Given the description of an element on the screen output the (x, y) to click on. 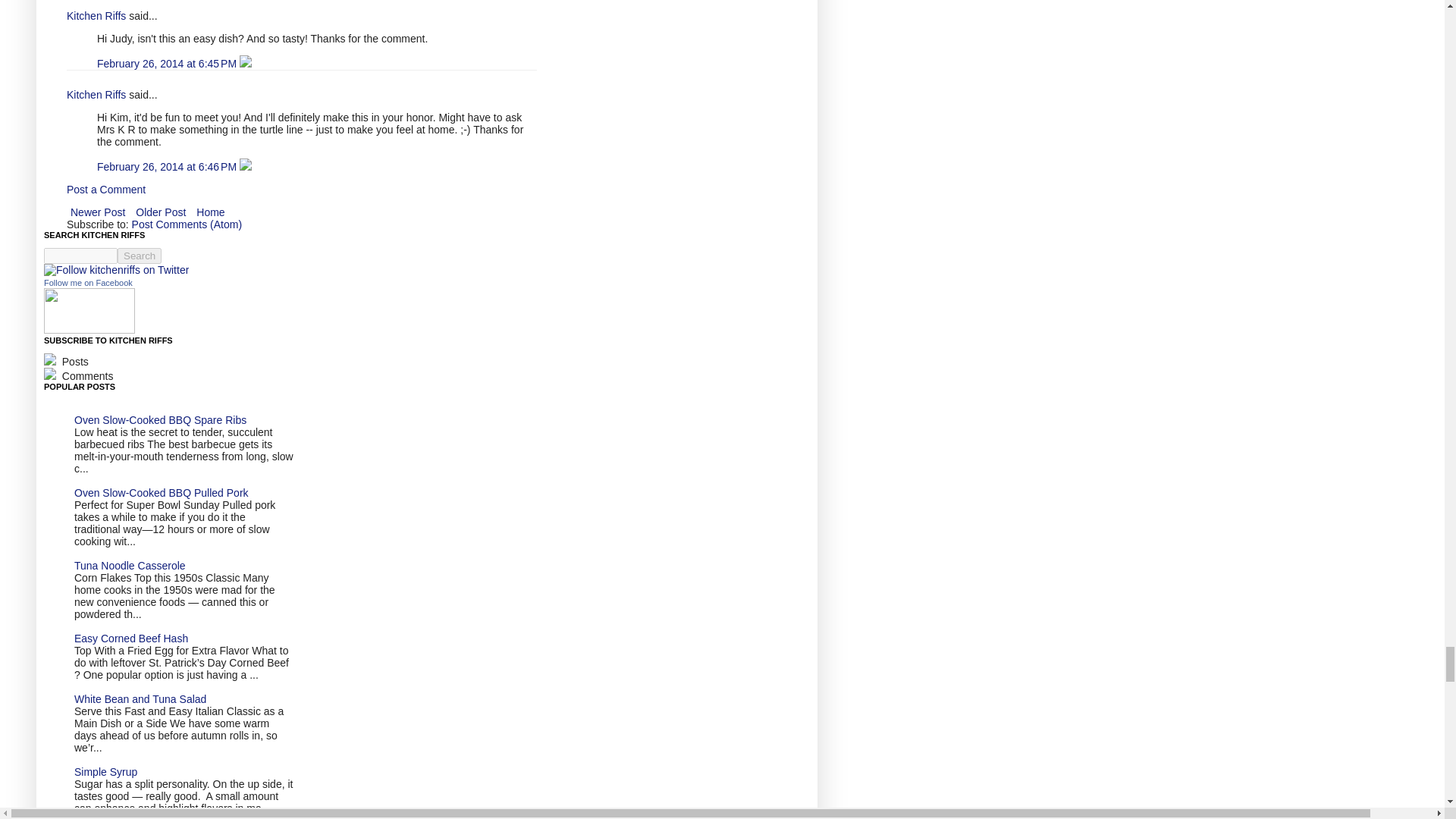
Search (139, 255)
Search (139, 255)
